Given the description of an element on the screen output the (x, y) to click on. 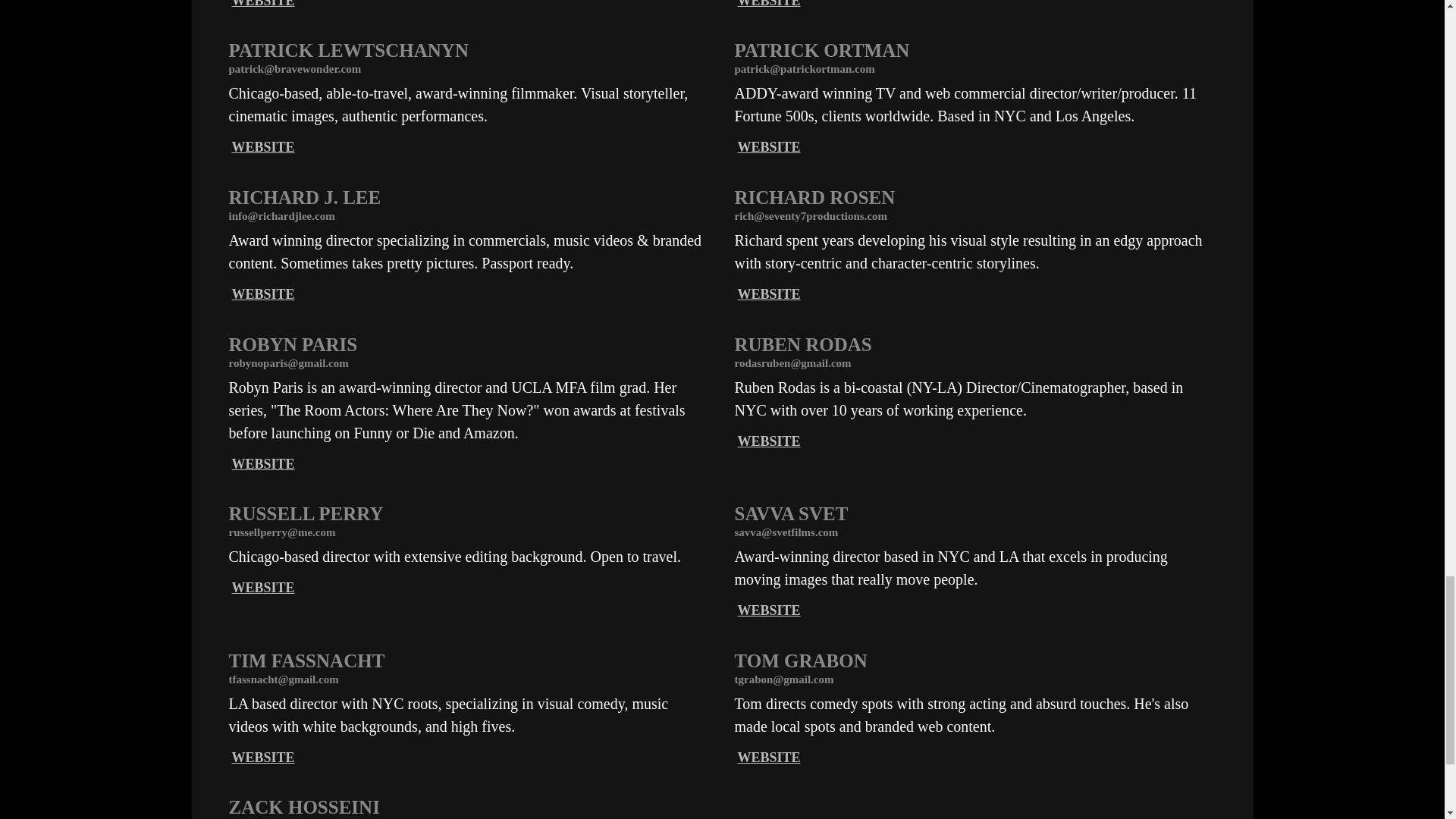
WEBSITE (263, 294)
WEBSITE (263, 146)
WEBSITE (767, 4)
WEBSITE (767, 146)
WEBSITE (263, 4)
